Given the description of an element on the screen output the (x, y) to click on. 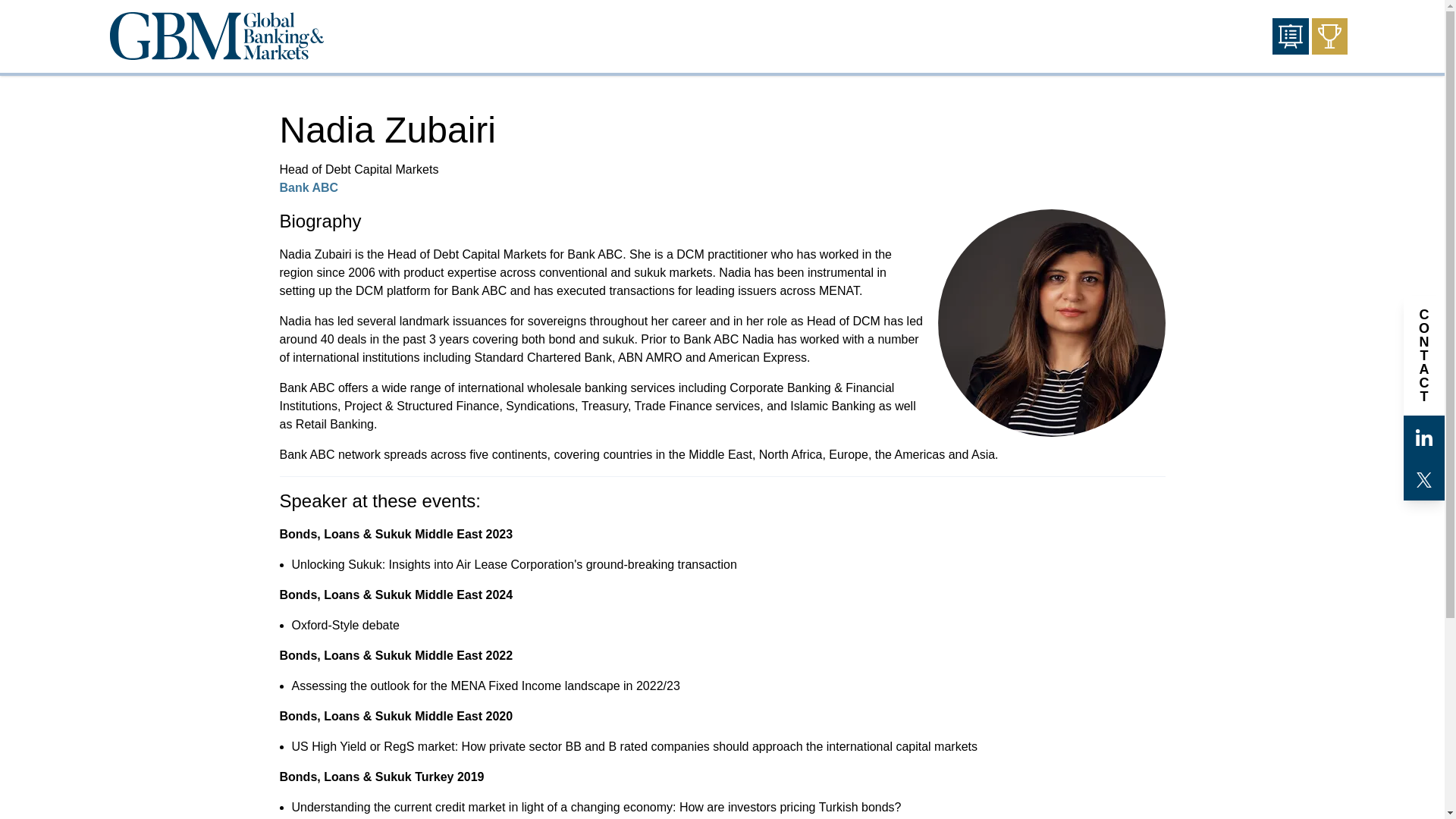
Awards (1329, 36)
Conferences (1290, 36)
Bank ABC (308, 187)
